Given the description of an element on the screen output the (x, y) to click on. 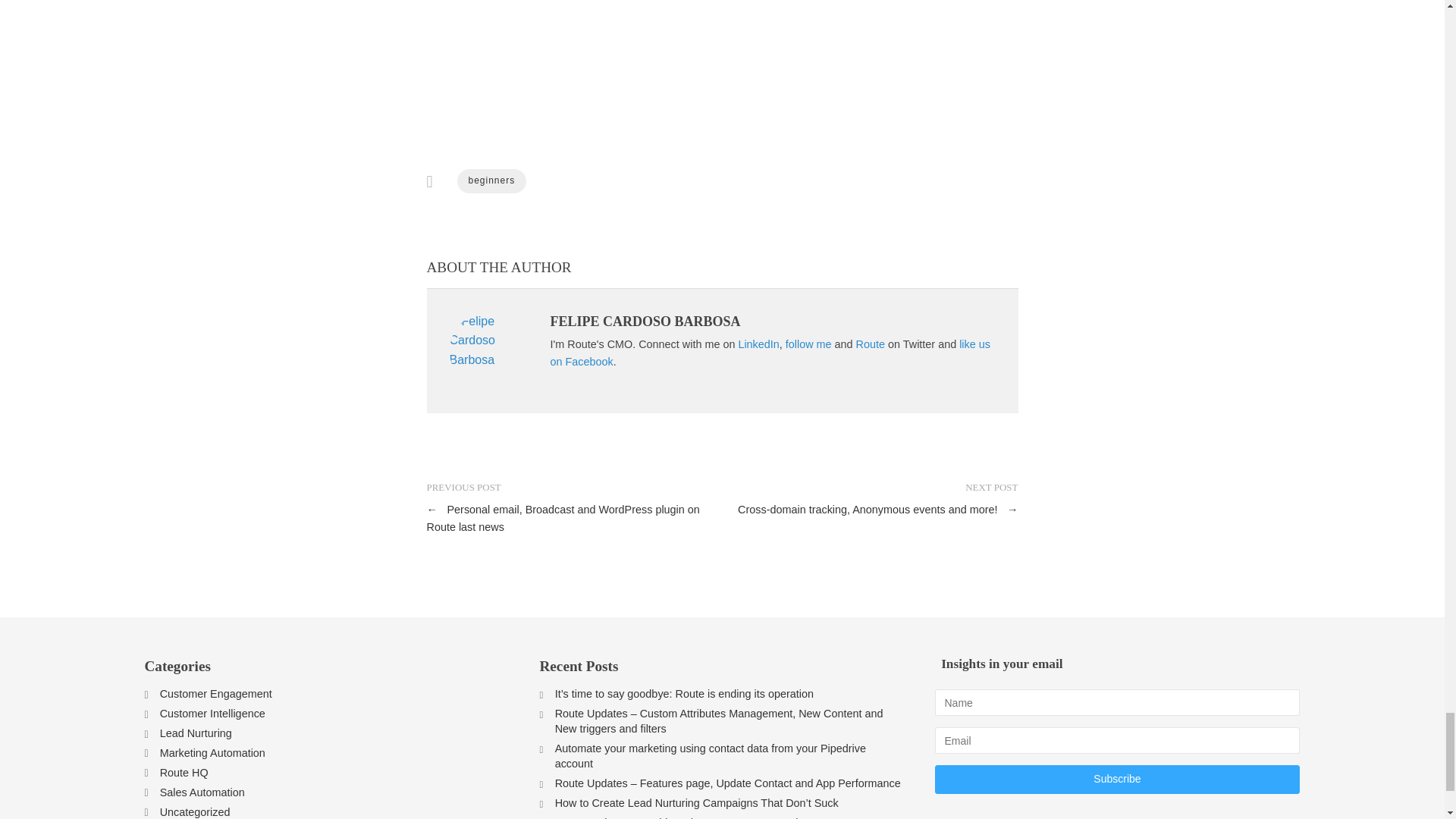
follow me (808, 344)
LinkedIn (758, 344)
beginners (491, 180)
